Given the description of an element on the screen output the (x, y) to click on. 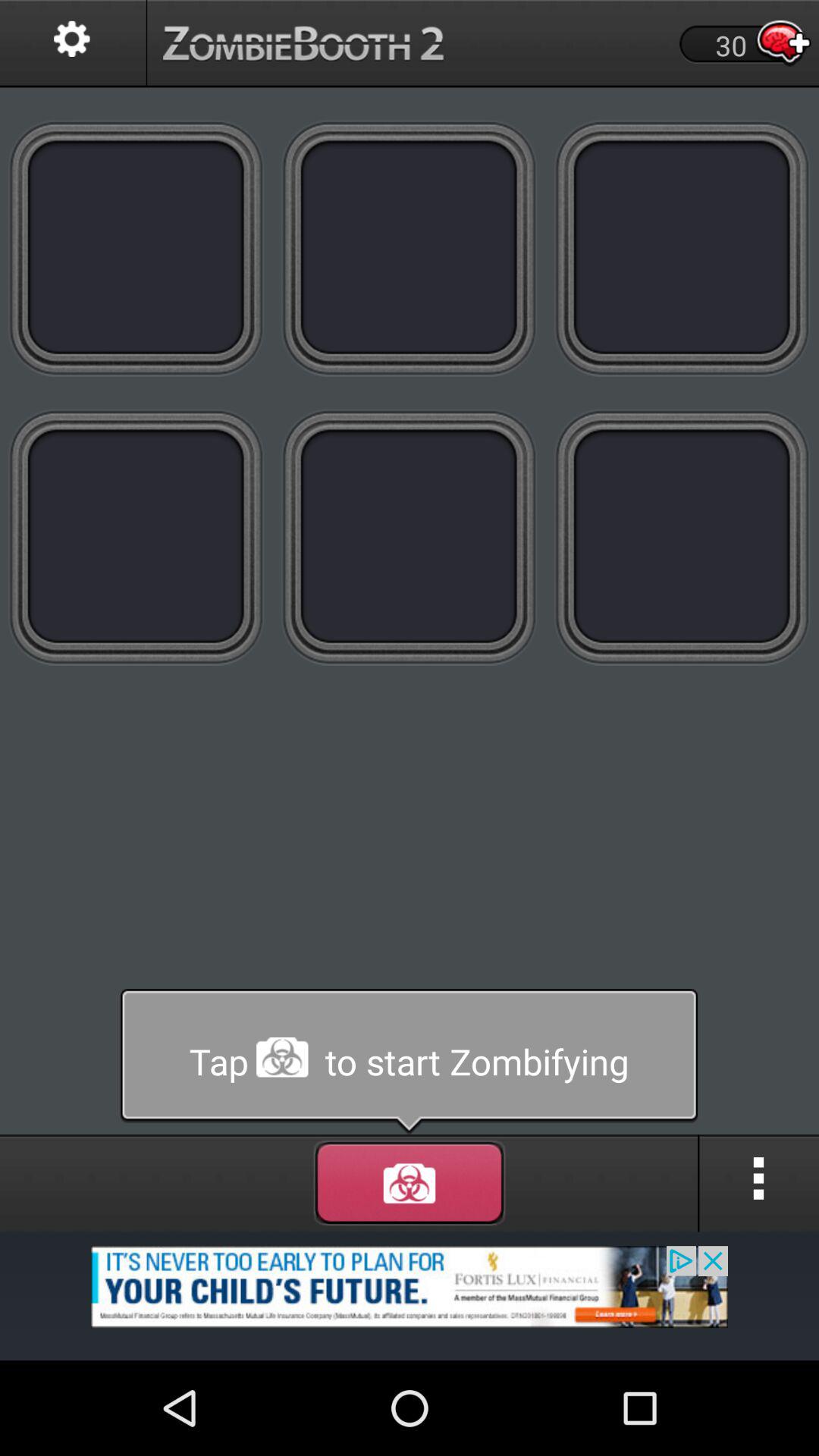
plank page (682, 536)
